Given the description of an element on the screen output the (x, y) to click on. 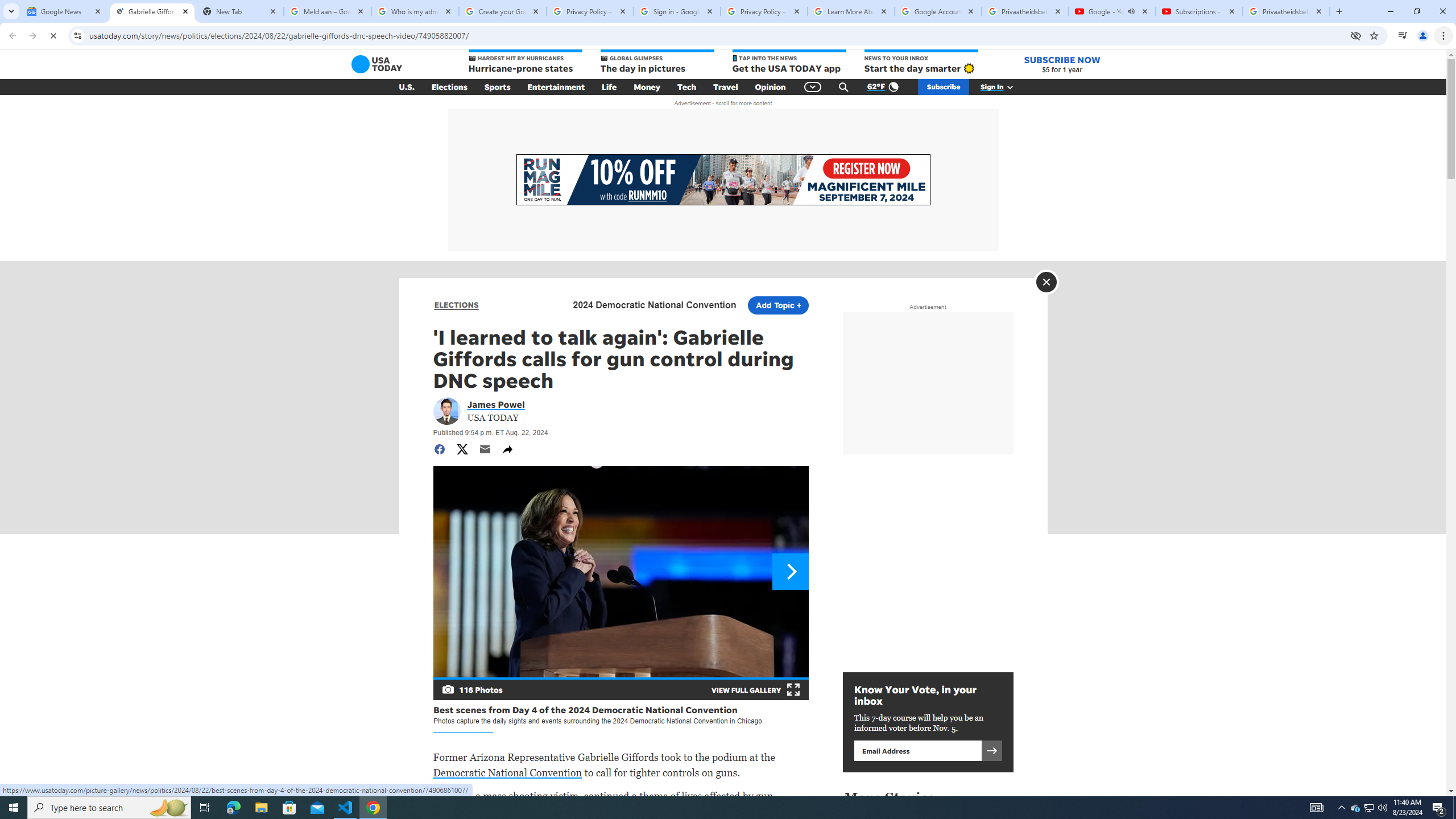
U.S. (406, 87)
Google News (64, 11)
Sign In (1002, 87)
Entertainment (556, 87)
Subscribe (943, 87)
USA TODAY (376, 64)
Tech (686, 87)
